Given the description of an element on the screen output the (x, y) to click on. 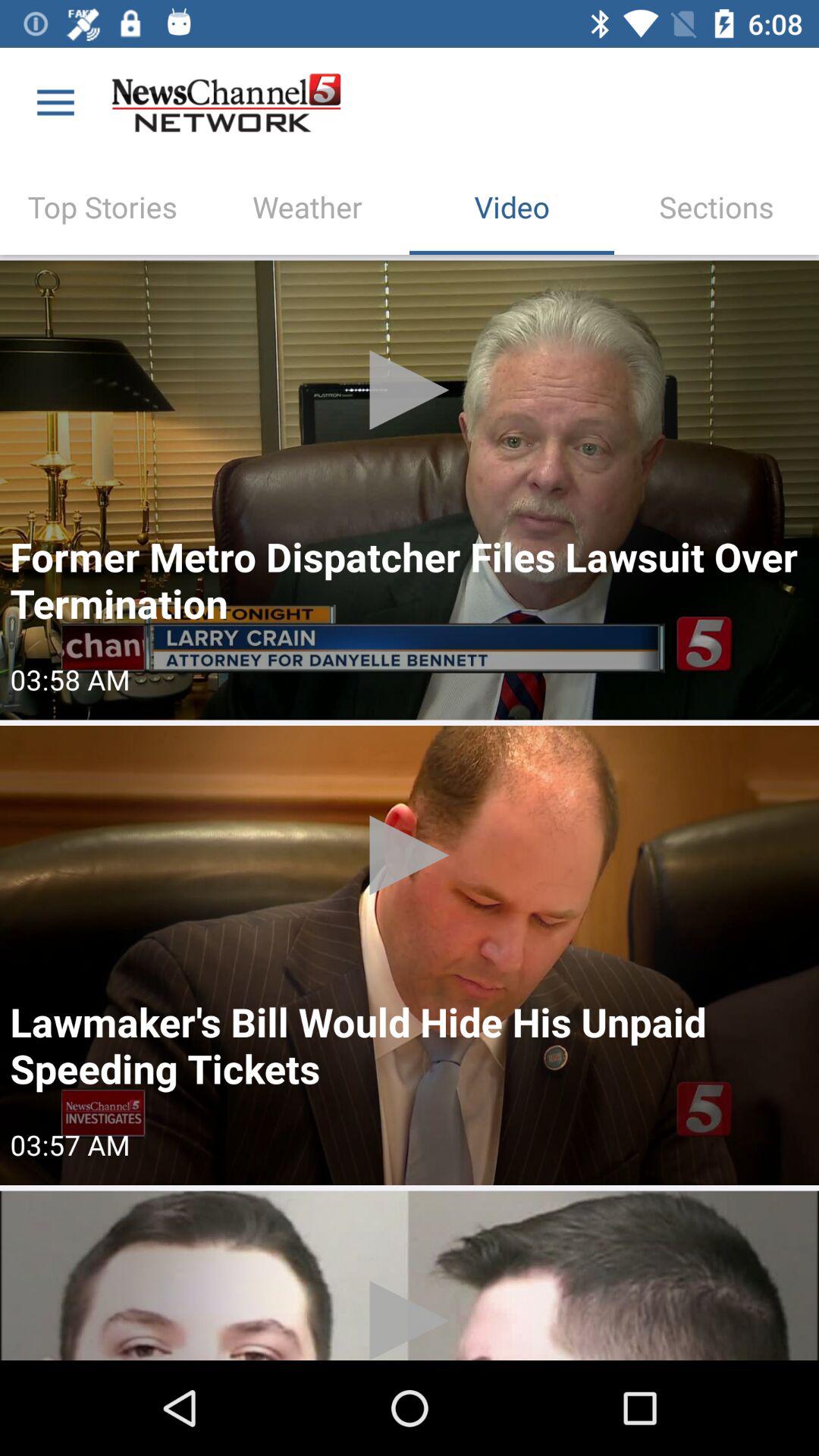
play the video (409, 490)
